Given the description of an element on the screen output the (x, y) to click on. 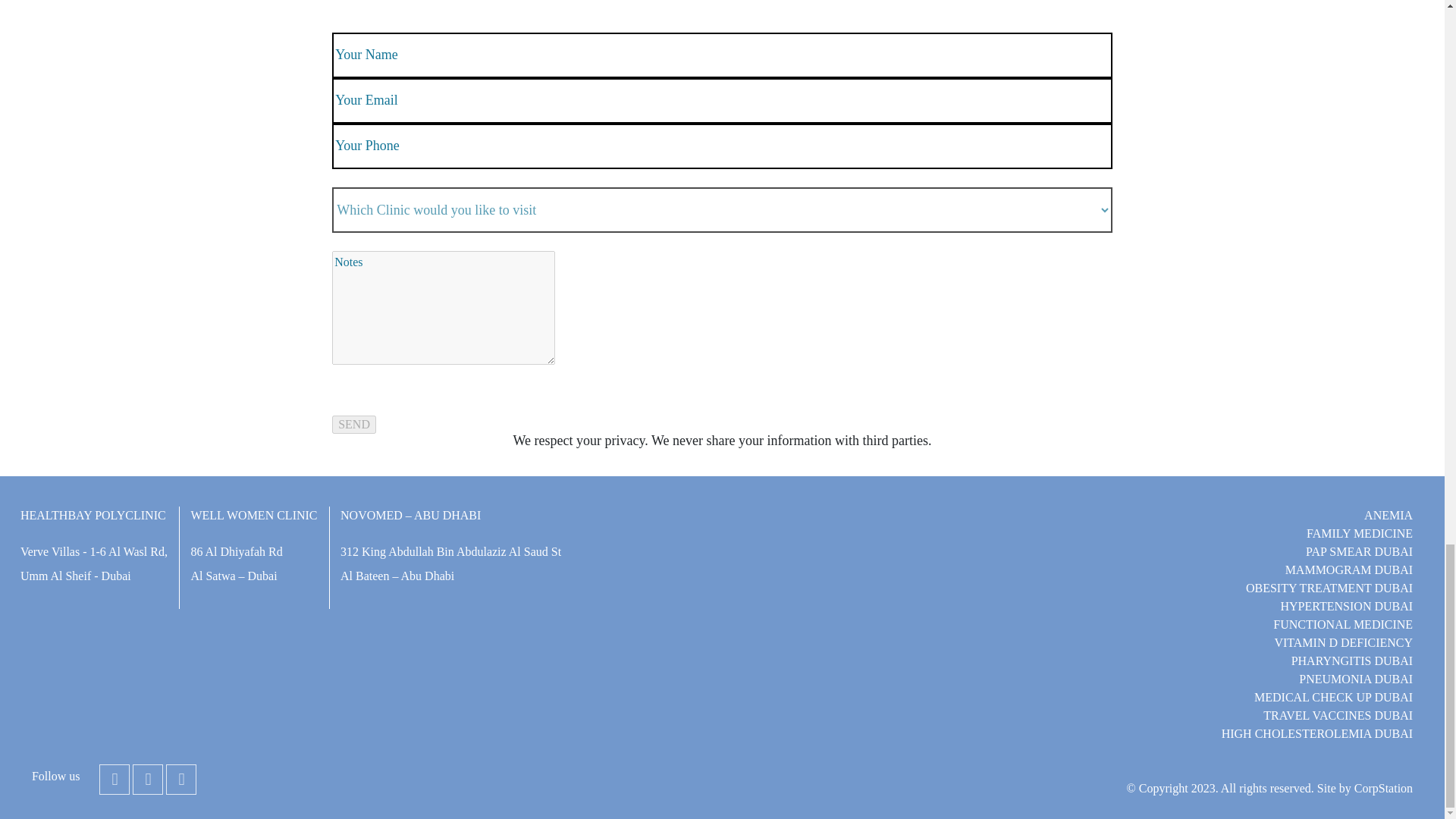
TRAVEL VACCINES DUBAI (1337, 715)
PNEUMONIA DUBAI (1355, 678)
ANEMIA (1388, 514)
SEND (353, 424)
HYPERTENSION DUBAI (1345, 605)
FUNCTIONAL MEDICINE (1342, 624)
MAMMOGRAM DUBAI (1348, 569)
HIGH CHOLESTEROLEMIA DUBAI (1316, 733)
PAP SMEAR DUBAI (1359, 551)
SEND (353, 424)
FAMILY MEDICINE (1359, 533)
OBESITY TREATMENT DUBAI (1329, 587)
MEDICAL CHECK UP DUBAI (1332, 697)
VITAMIN D DEFICIENCY (1343, 642)
PHARYNGITIS DUBAI (1351, 660)
